Given the description of an element on the screen output the (x, y) to click on. 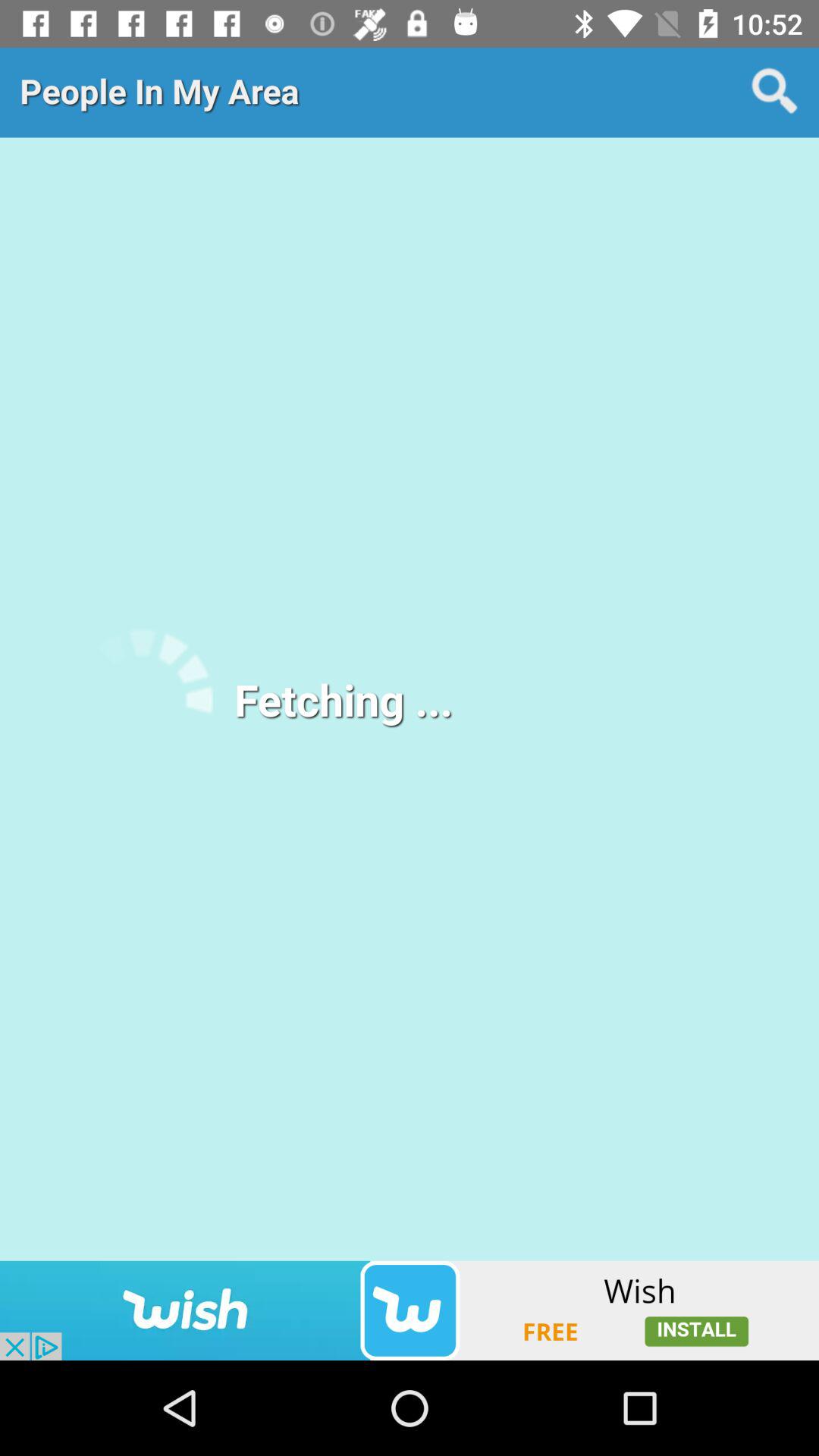
search for people (774, 91)
